Given the description of an element on the screen output the (x, y) to click on. 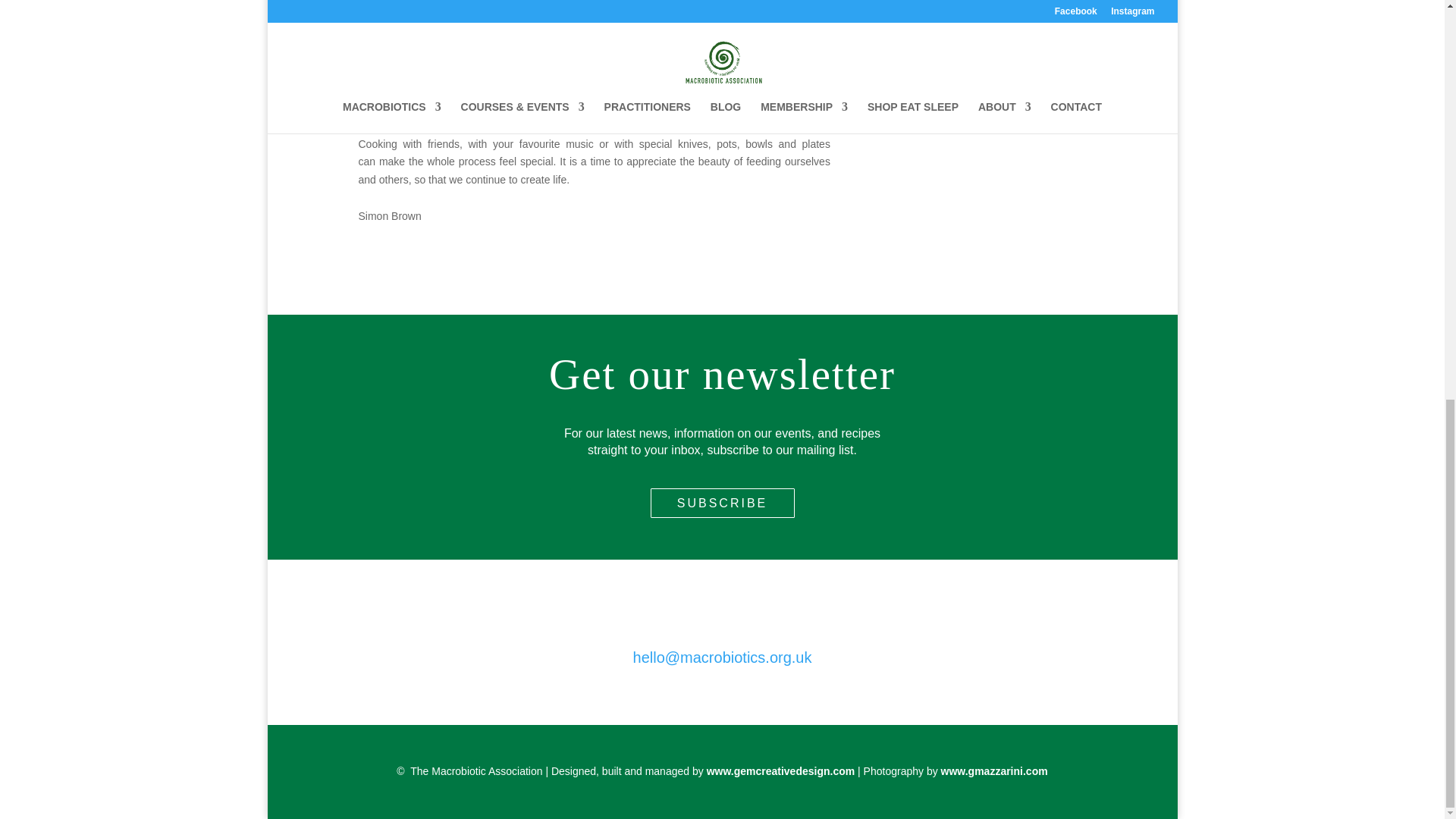
Page 1 (593, 94)
